Given the description of an element on the screen output the (x, y) to click on. 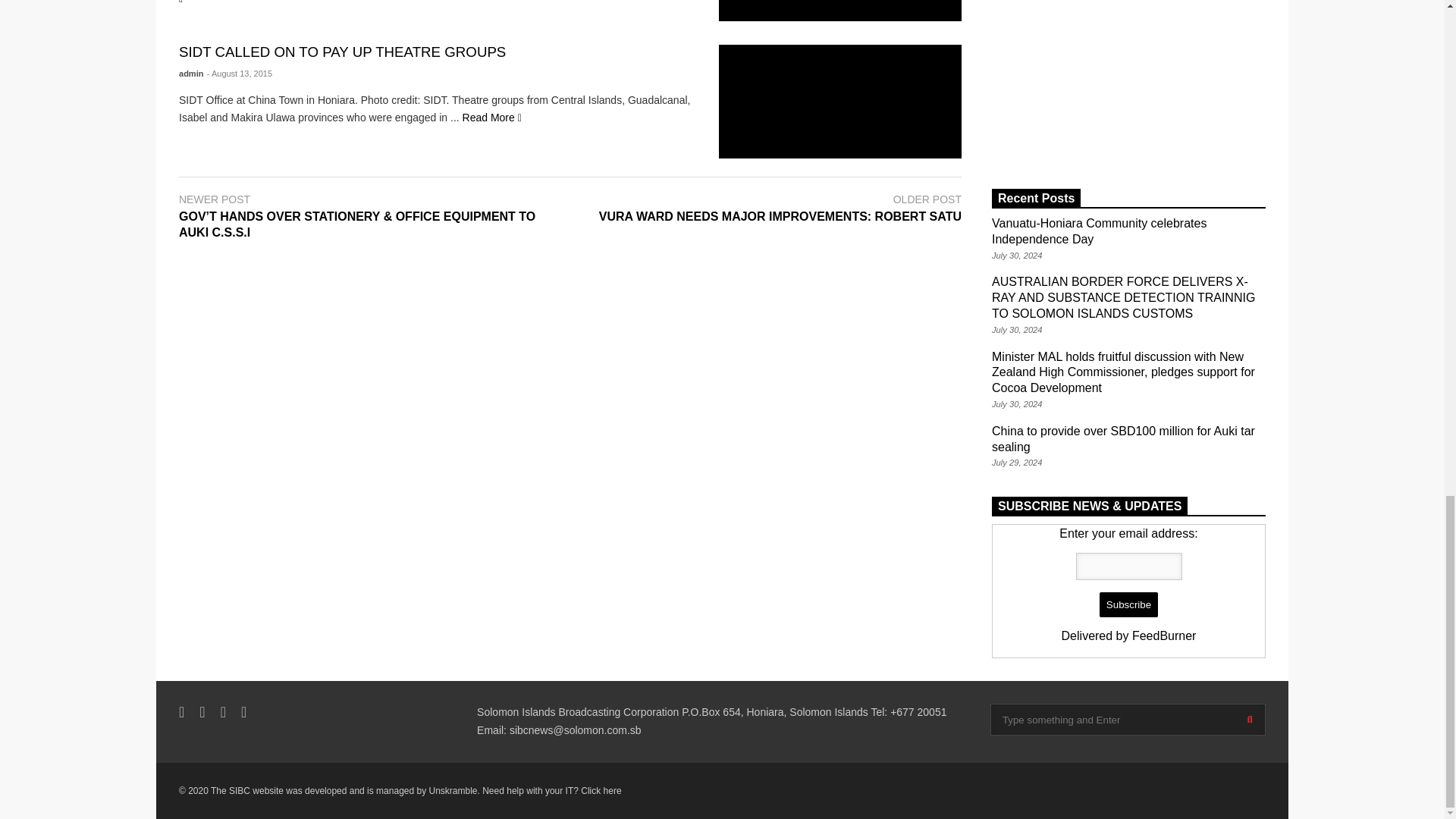
SIDT CALLED ON TO PAY UP THEATRE GROUPS (839, 101)
AXIOM MINING CONGRATULATES PRIME MINISTER SOGAVARE (839, 10)
Subscribe (1128, 605)
